Given the description of an element on the screen output the (x, y) to click on. 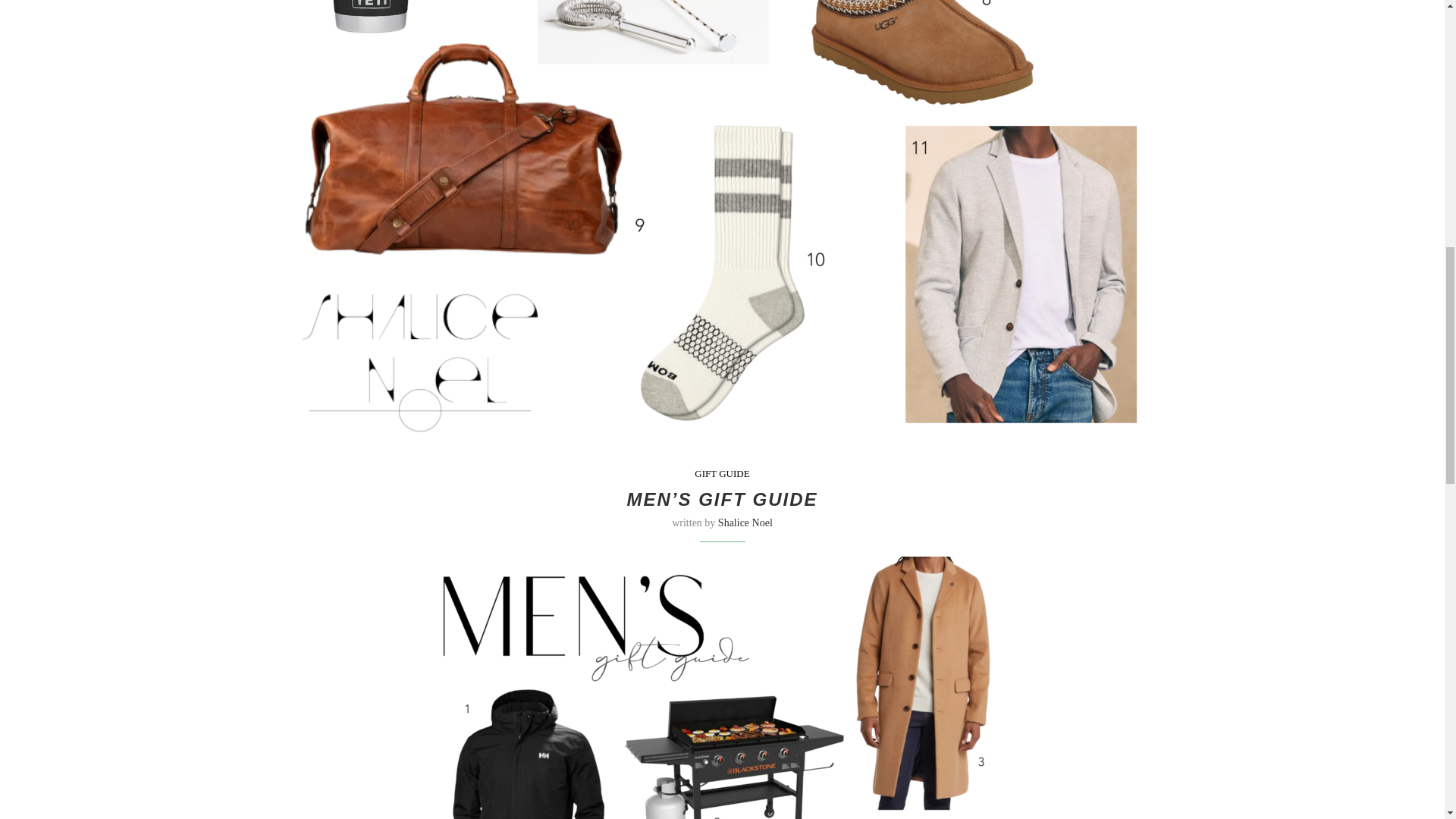
Shalice Noel (745, 522)
GIFT GUIDE (721, 473)
